Given the description of an element on the screen output the (x, y) to click on. 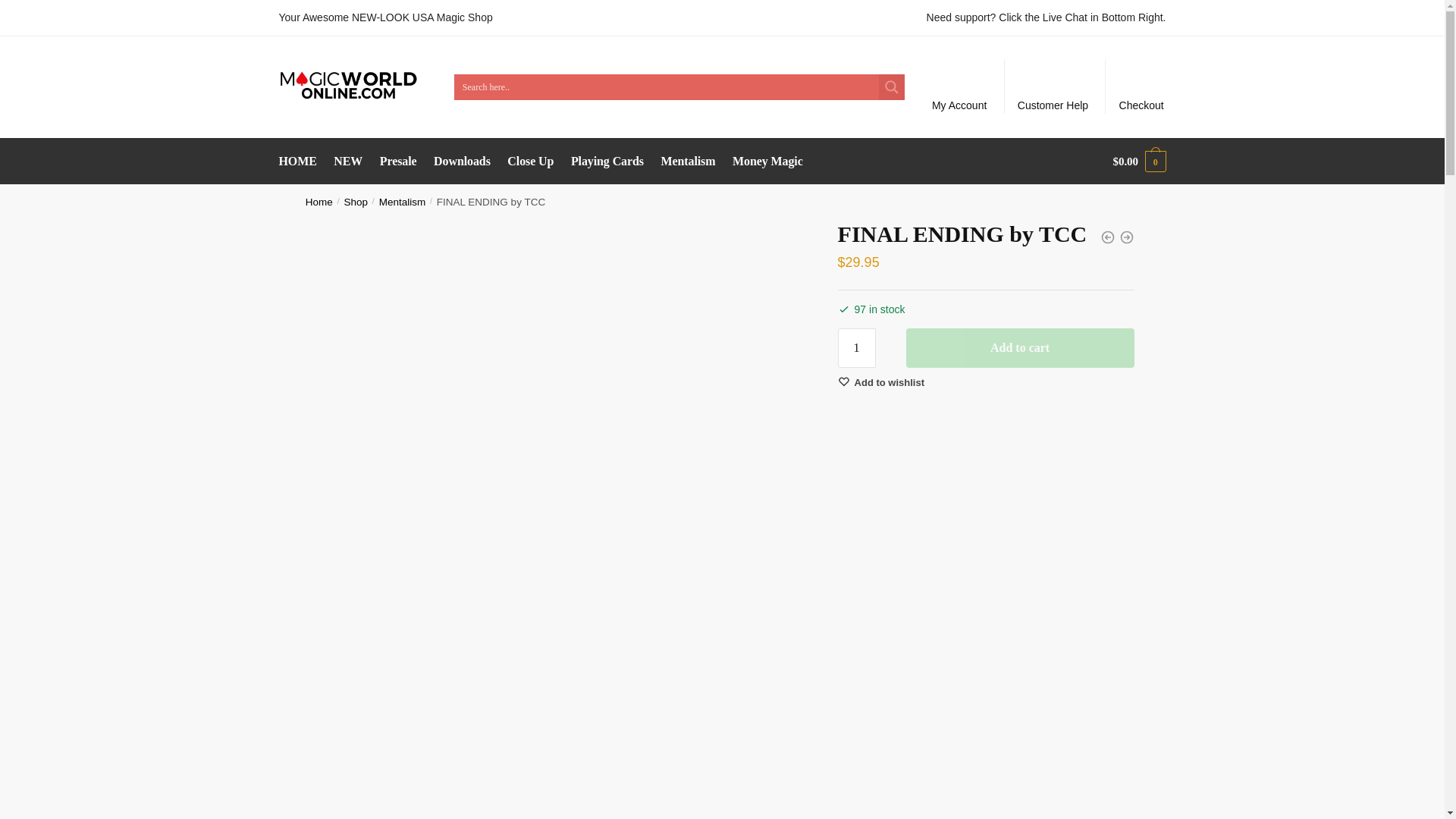
My Account (959, 86)
Add to cart (1019, 347)
Mentalism (687, 161)
Customer Help (1053, 86)
Shop (355, 202)
NEW (348, 161)
Checkout (1141, 86)
1 (857, 347)
View your shopping cart (1139, 161)
Money Magic (767, 161)
Presale (397, 161)
Downloads (461, 161)
HOME (301, 161)
Home (319, 202)
Close Up (530, 161)
